Given the description of an element on the screen output the (x, y) to click on. 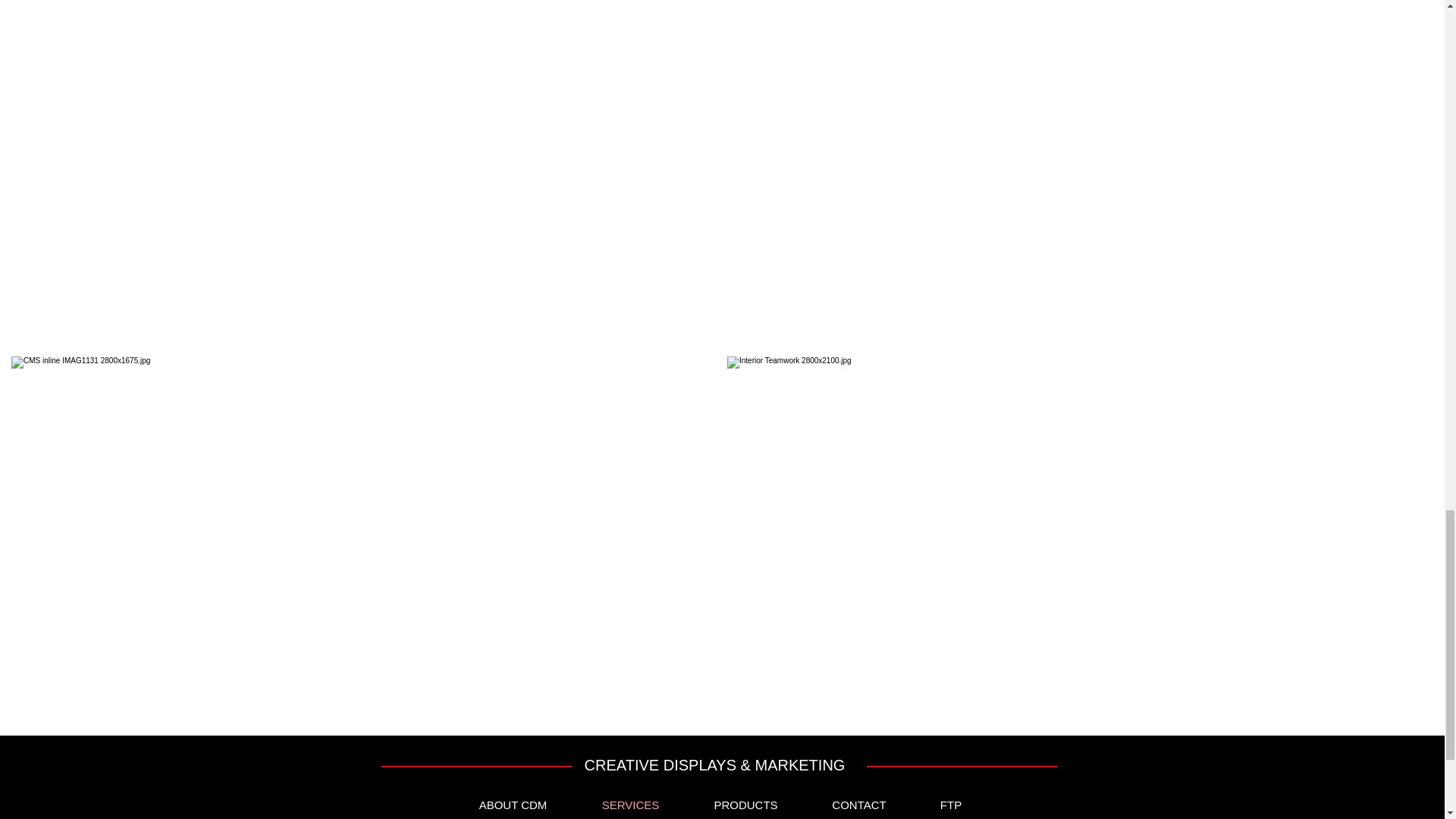
ABOUT CDM (513, 802)
PRODUCTS (746, 802)
CONTACT (859, 802)
FTP (950, 802)
SERVICES (631, 802)
